Given the description of an element on the screen output the (x, y) to click on. 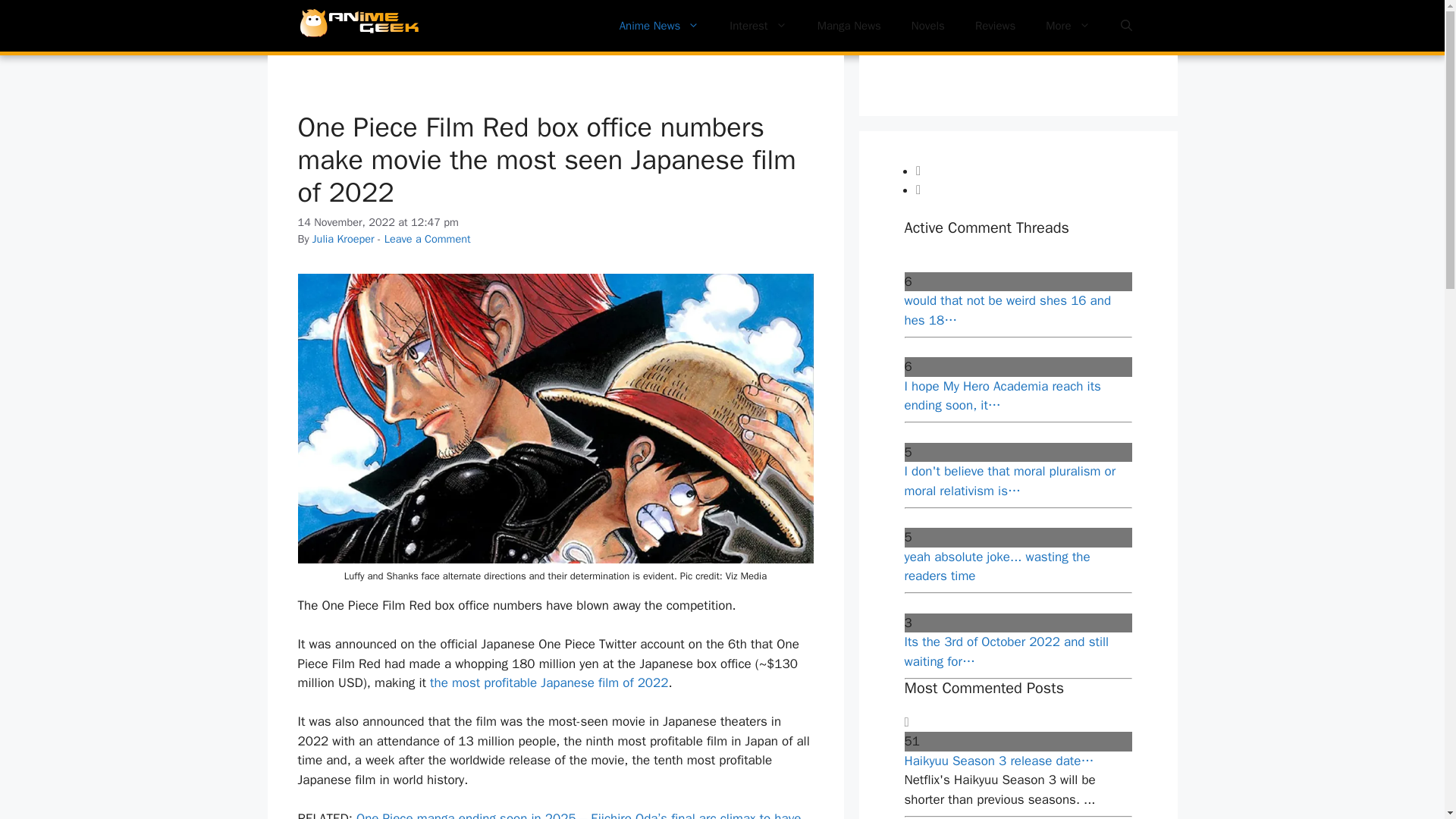
the most profitable Japanese film of 2022 (548, 682)
More (1067, 25)
5 (1017, 452)
Anime News (659, 25)
6 (1017, 281)
Julia Kroeper (343, 238)
View all posts by Julia Kroeper (343, 238)
Interest (758, 25)
Reviews (994, 25)
Leave a Comment (427, 238)
Manga News (849, 25)
6 (1017, 366)
Novels (927, 25)
Most active comment threads (1027, 170)
Most commented posts (1027, 189)
